Given the description of an element on the screen output the (x, y) to click on. 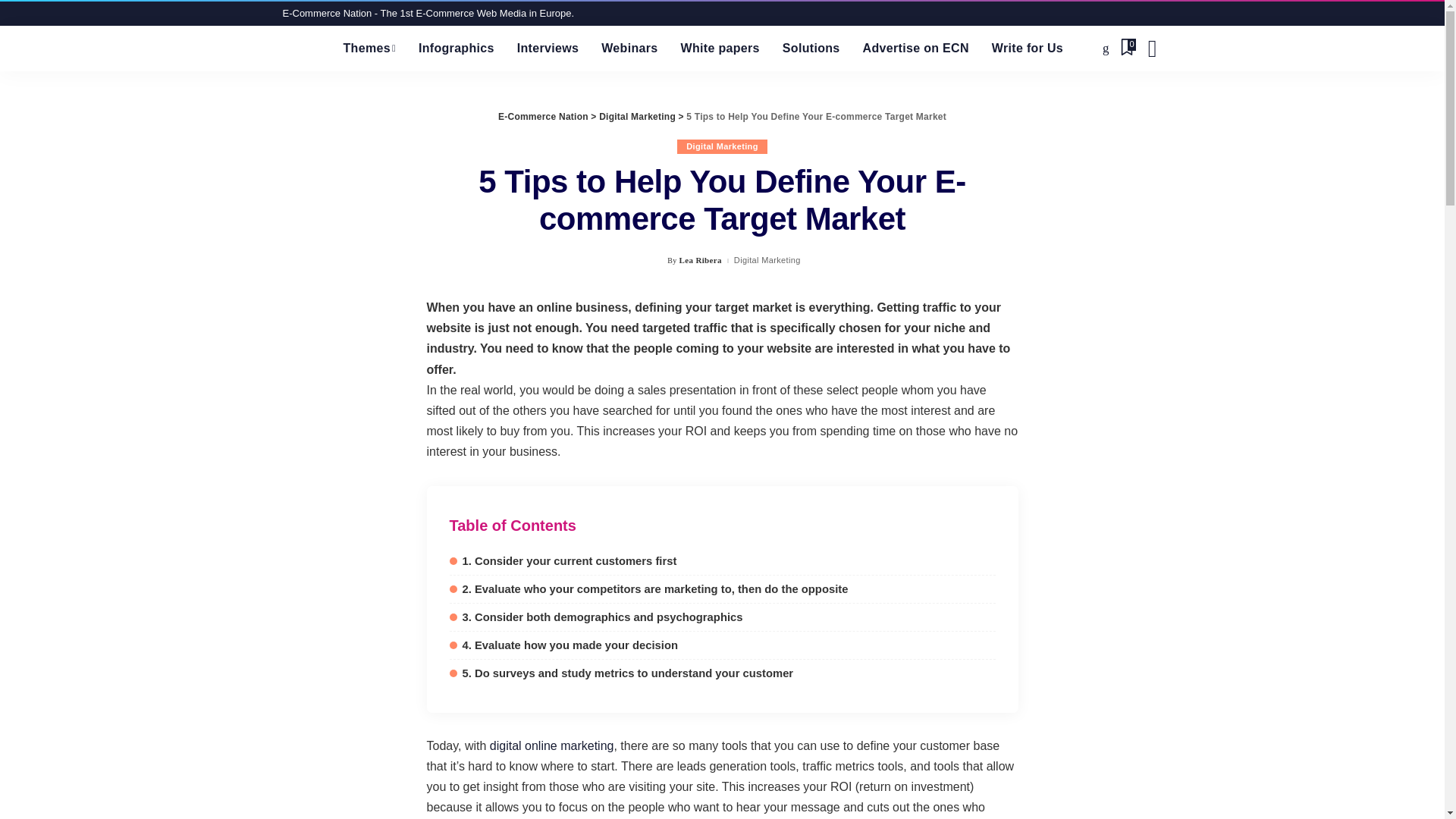
Search (1151, 48)
Go to the Digital Marketing category archives. (636, 116)
Go to E-Commerce Nation. (542, 116)
E-Commerce Nation (301, 48)
LinkedIn (1105, 48)
Bookmarks (1127, 48)
